Given the description of an element on the screen output the (x, y) to click on. 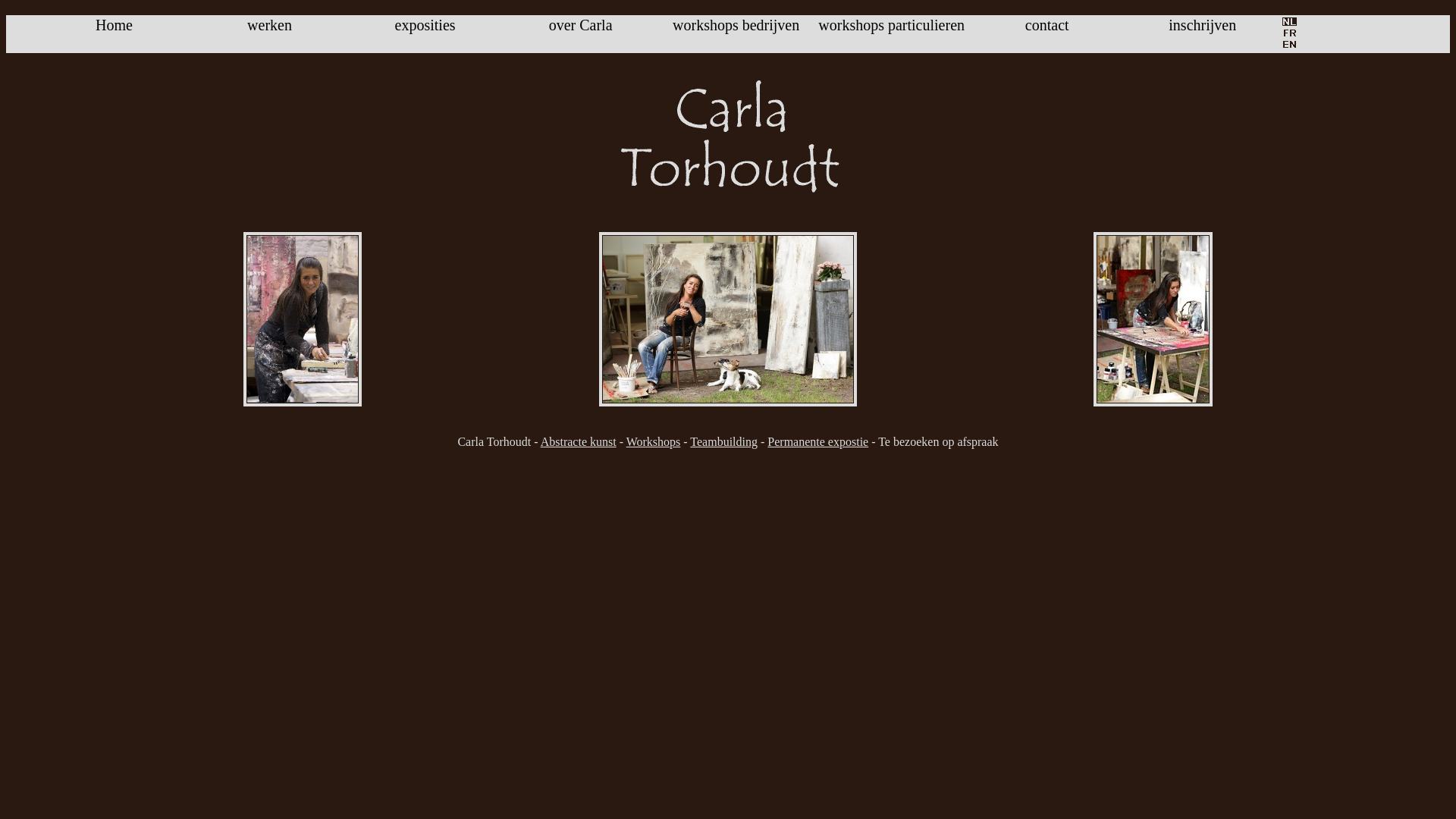
Home Element type: text (113, 24)
workshops particulieren Element type: text (891, 24)
contact Element type: text (1047, 24)
werken Element type: text (269, 24)
Permanente expostie Element type: text (817, 441)
inschrijven Element type: text (1202, 24)
exposities Element type: text (425, 24)
workshops bedrijven Element type: text (735, 24)
over Carla Element type: text (580, 24)
Abstracte kunst Element type: text (578, 441)
Teambuilding Element type: text (723, 441)
Workshops Element type: text (653, 441)
